Given the description of an element on the screen output the (x, y) to click on. 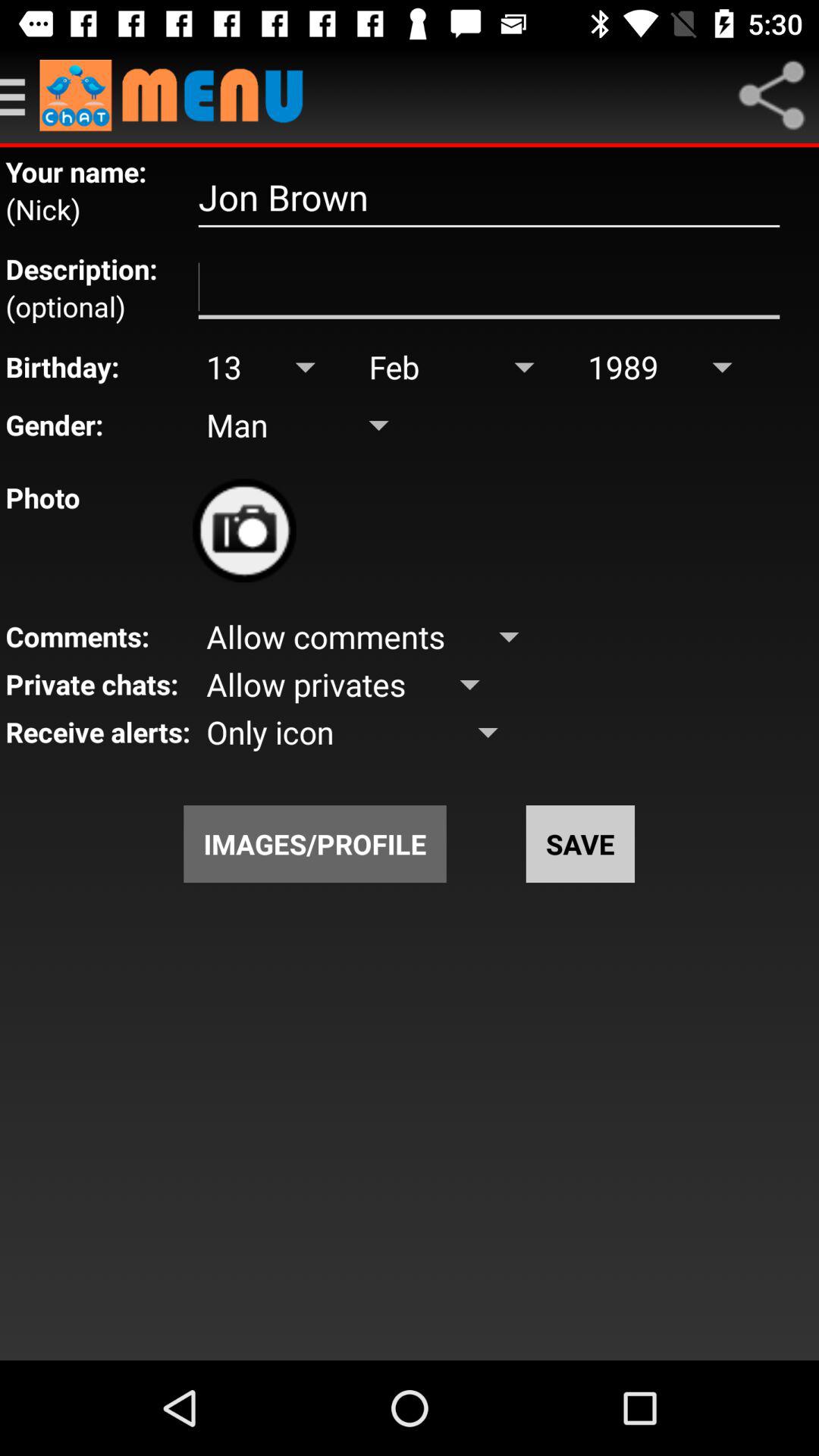
open menu (19, 95)
